Given the description of an element on the screen output the (x, y) to click on. 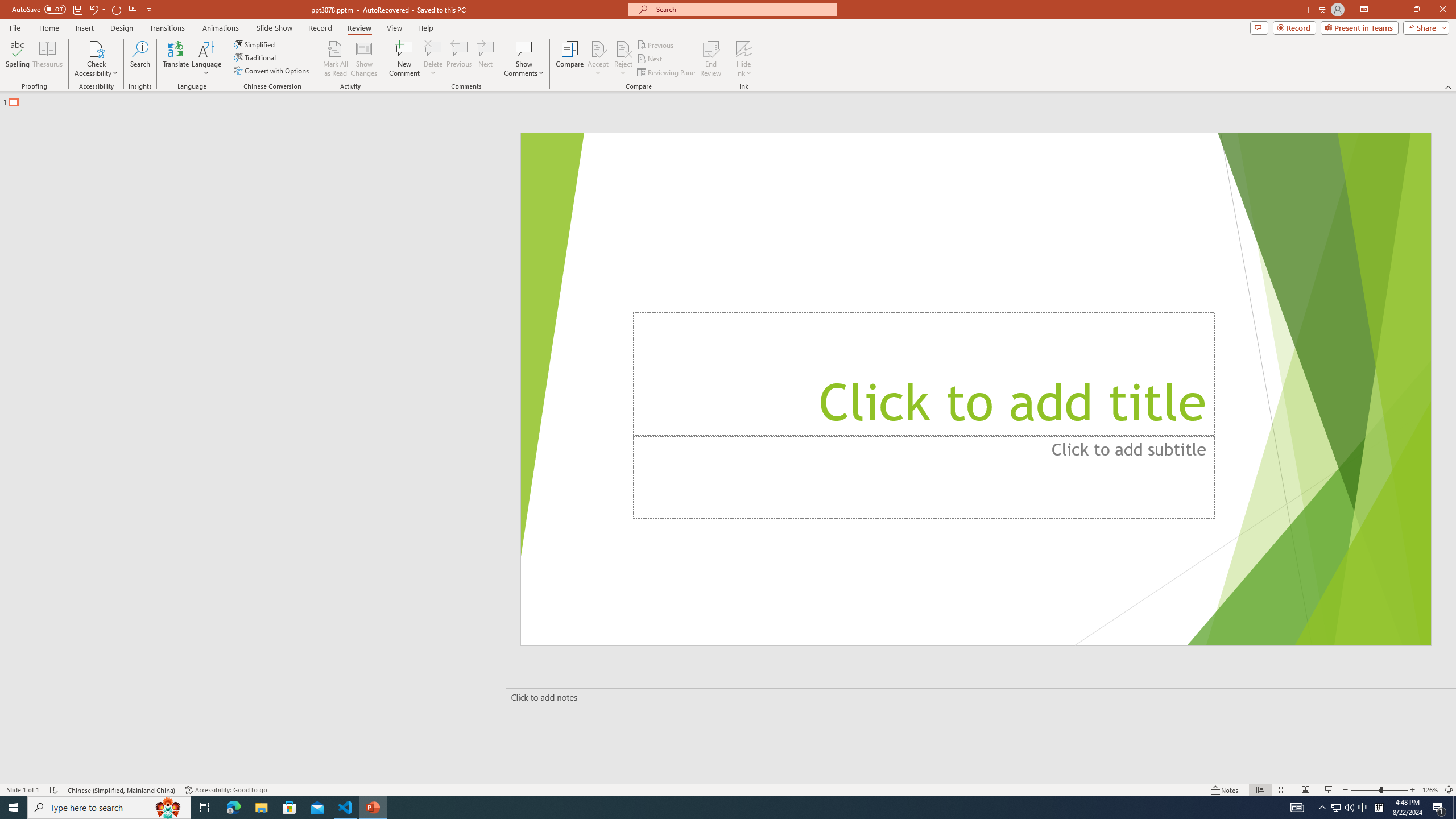
Previous (655, 44)
Translate (175, 58)
